Given the description of an element on the screen output the (x, y) to click on. 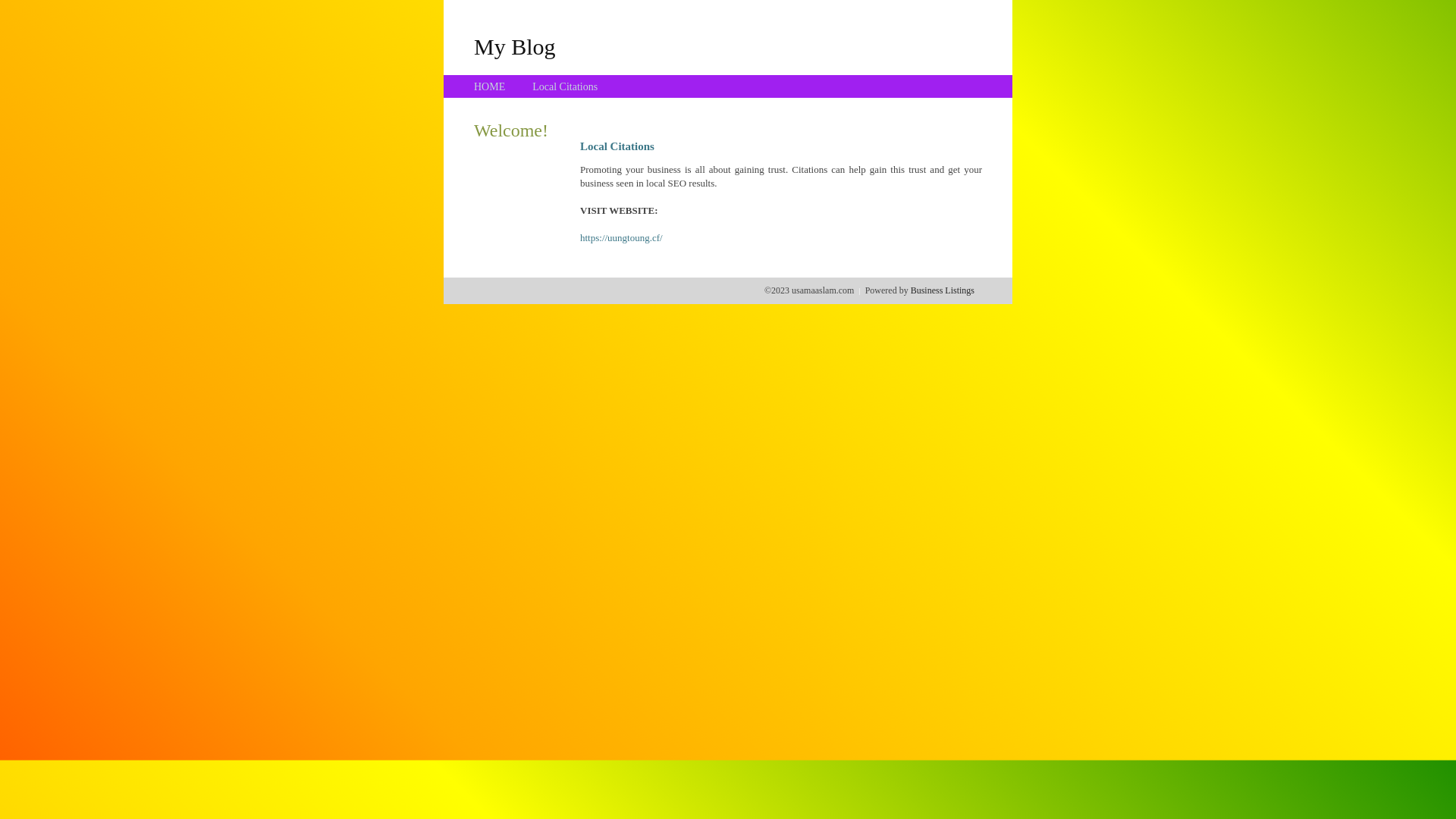
Business Listings Element type: text (942, 290)
https://uungtoung.cf/ Element type: text (621, 237)
Local Citations Element type: text (564, 86)
My Blog Element type: text (514, 46)
HOME Element type: text (489, 86)
